Given the description of an element on the screen output the (x, y) to click on. 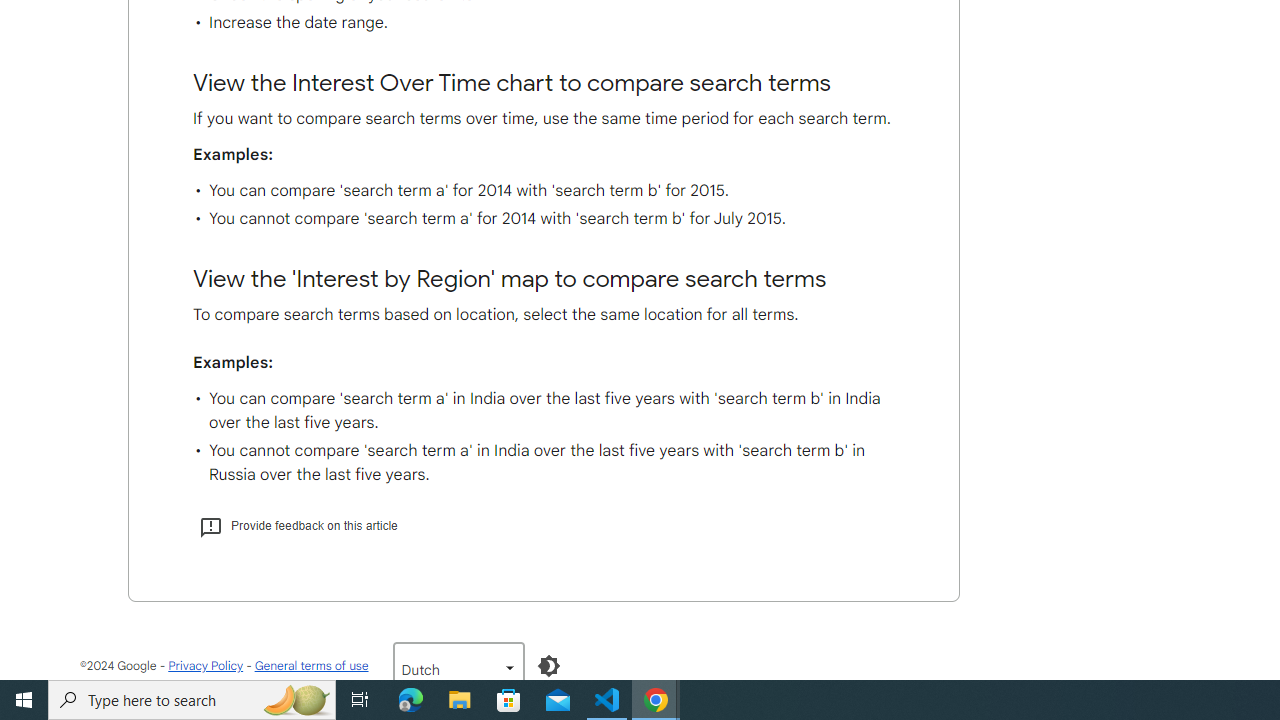
Provide feedback on this article (298, 525)
Enable dark mode (548, 665)
General terms of use (310, 665)
